Given the description of an element on the screen output the (x, y) to click on. 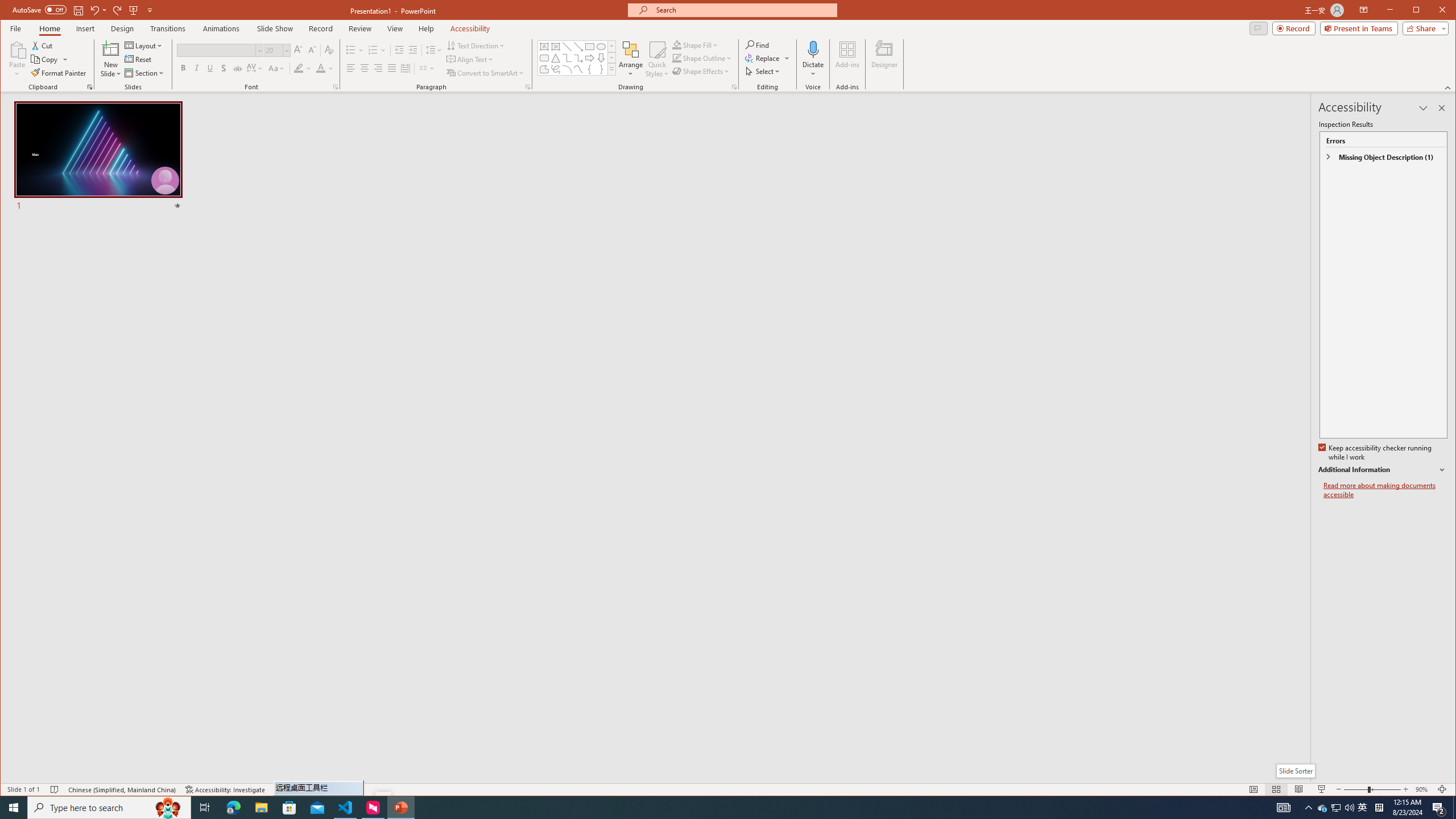
User Promoted Notification Area (1336, 807)
Right Brace (601, 69)
Shape Fill Orange, Accent 2 (676, 44)
Shape Outline (702, 57)
Oval (601, 46)
Align Left (350, 68)
Select (763, 70)
Align Right (377, 68)
